Given the description of an element on the screen output the (x, y) to click on. 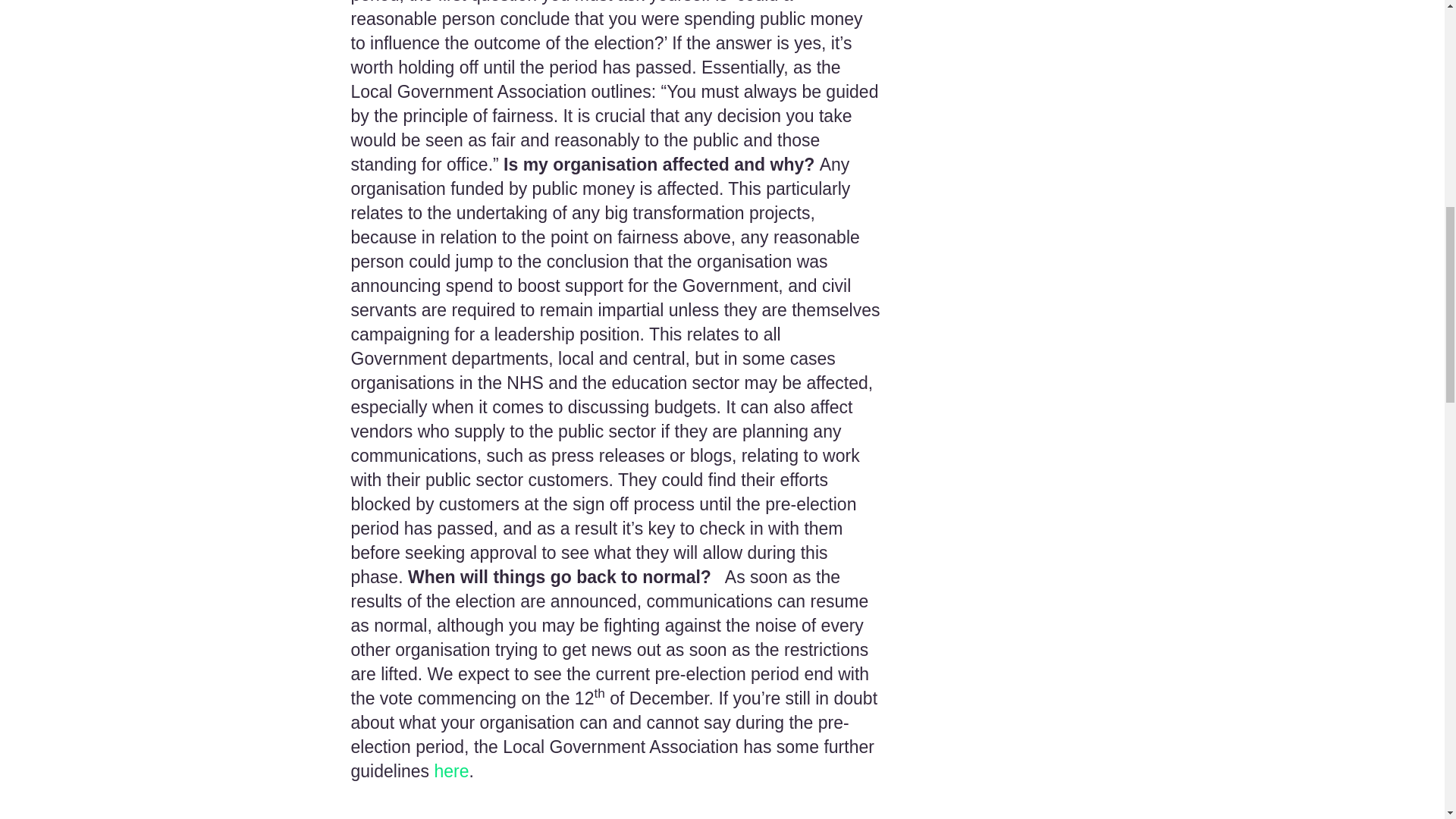
here (450, 771)
